Given the description of an element on the screen output the (x, y) to click on. 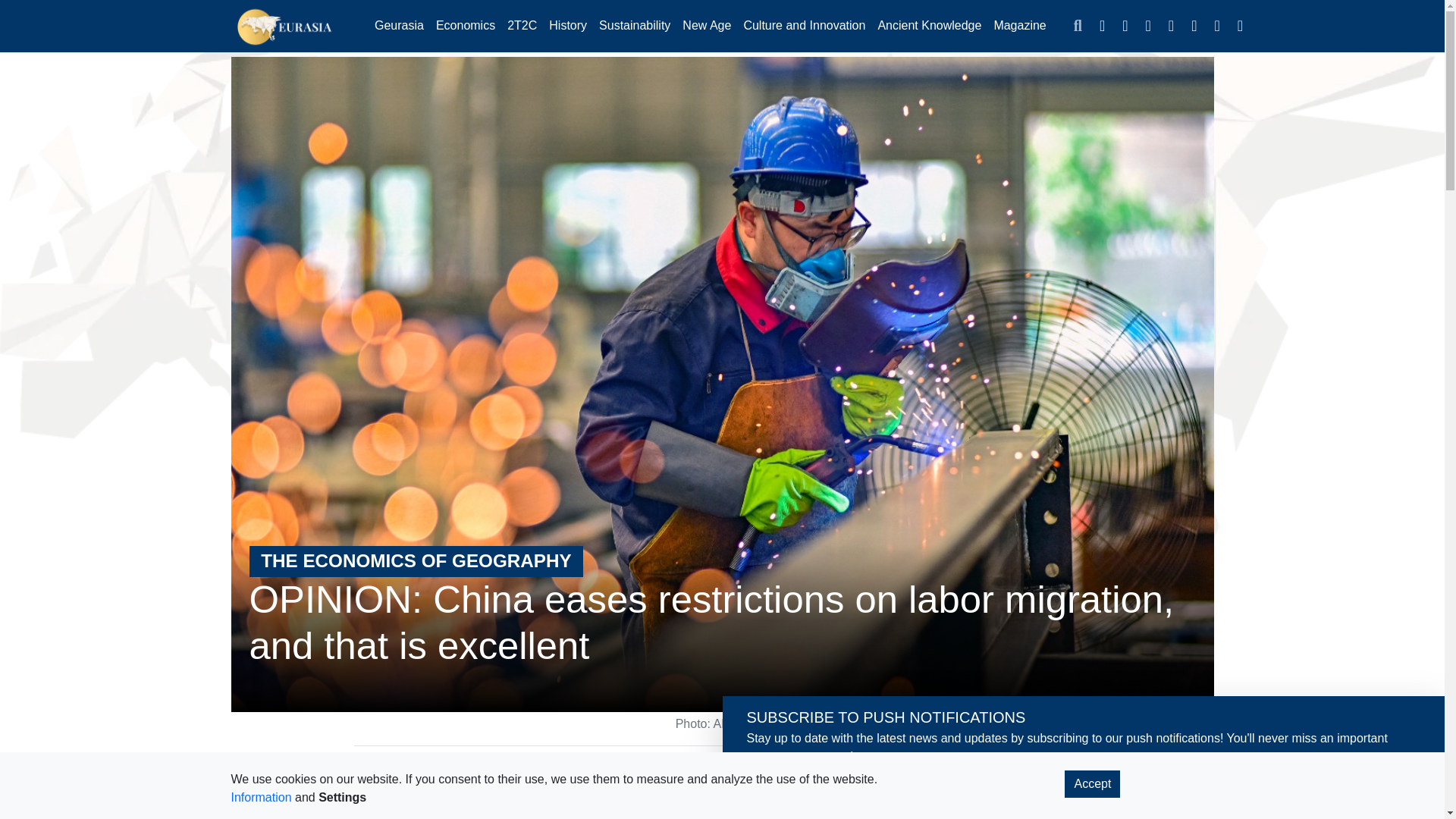
2T2C (521, 25)
Sustainability (634, 25)
Magazine (1019, 25)
History (567, 25)
Ancient Knowledge (928, 25)
Geurasia (398, 25)
New Age (706, 25)
Economics (464, 25)
THE ECONOMICS OF GEOGRAPHY (415, 558)
Culture and Innovation (803, 25)
